Given the description of an element on the screen output the (x, y) to click on. 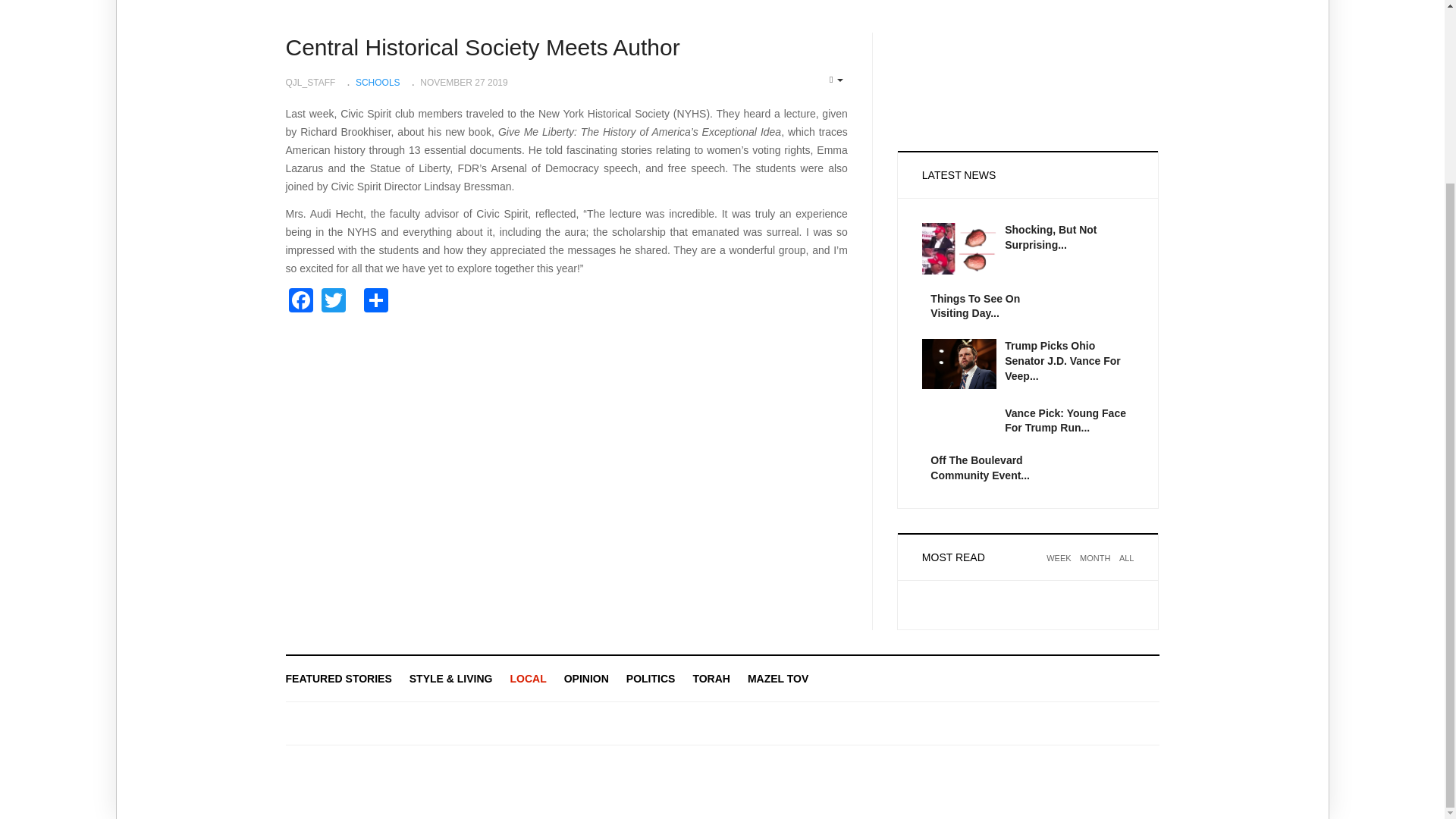
Category:  (372, 81)
Central Historical Society  Meets Author (482, 47)
Written by  (309, 82)
Month (1094, 567)
Week (1058, 567)
Published:  (458, 81)
